Given the description of an element on the screen output the (x, y) to click on. 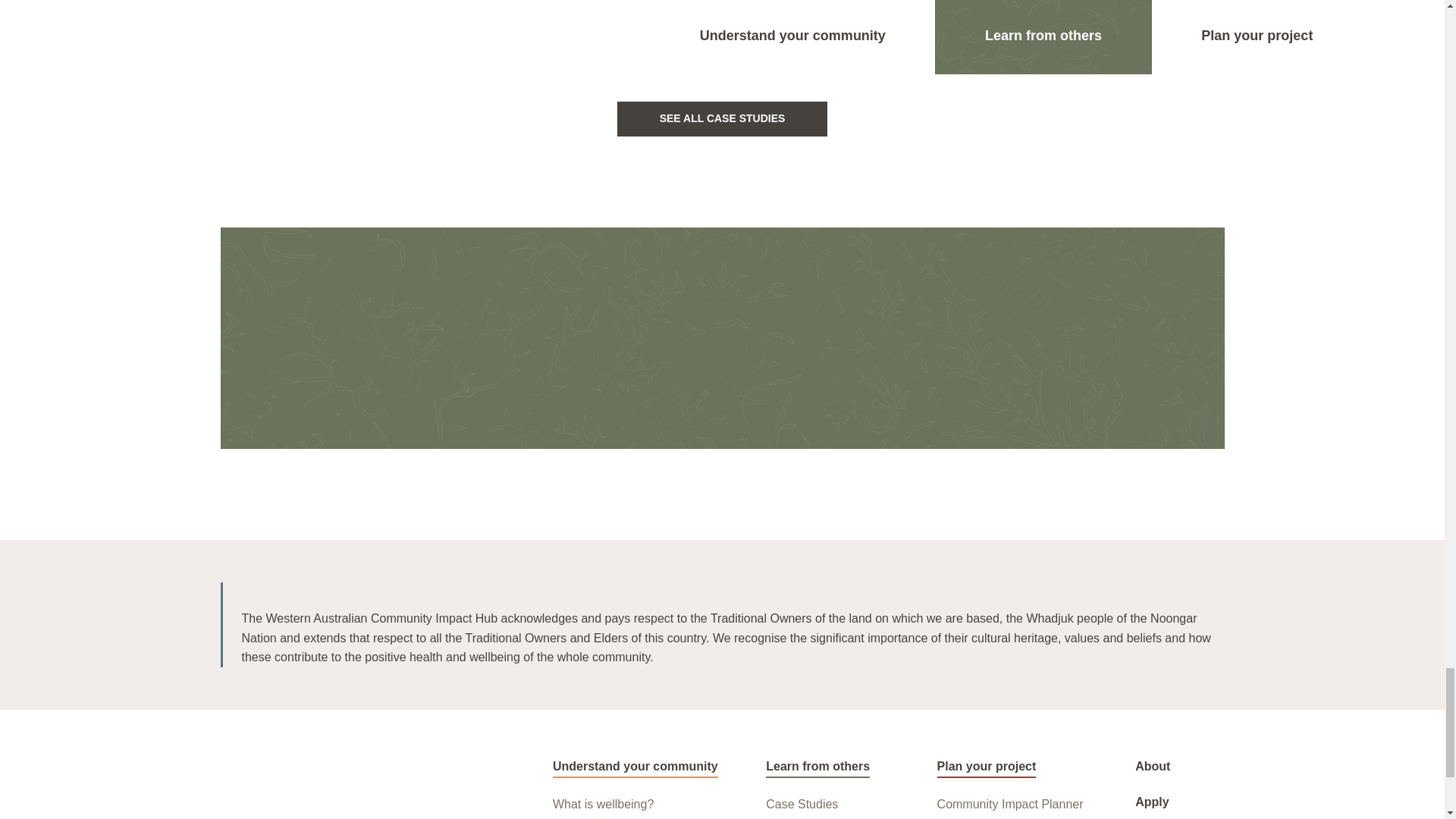
About (1152, 766)
SEE ALL CASE STUDIES (722, 118)
Community Impact Planner (1010, 803)
Case Studies (801, 803)
What is wellbeing? (603, 803)
